Given the description of an element on the screen output the (x, y) to click on. 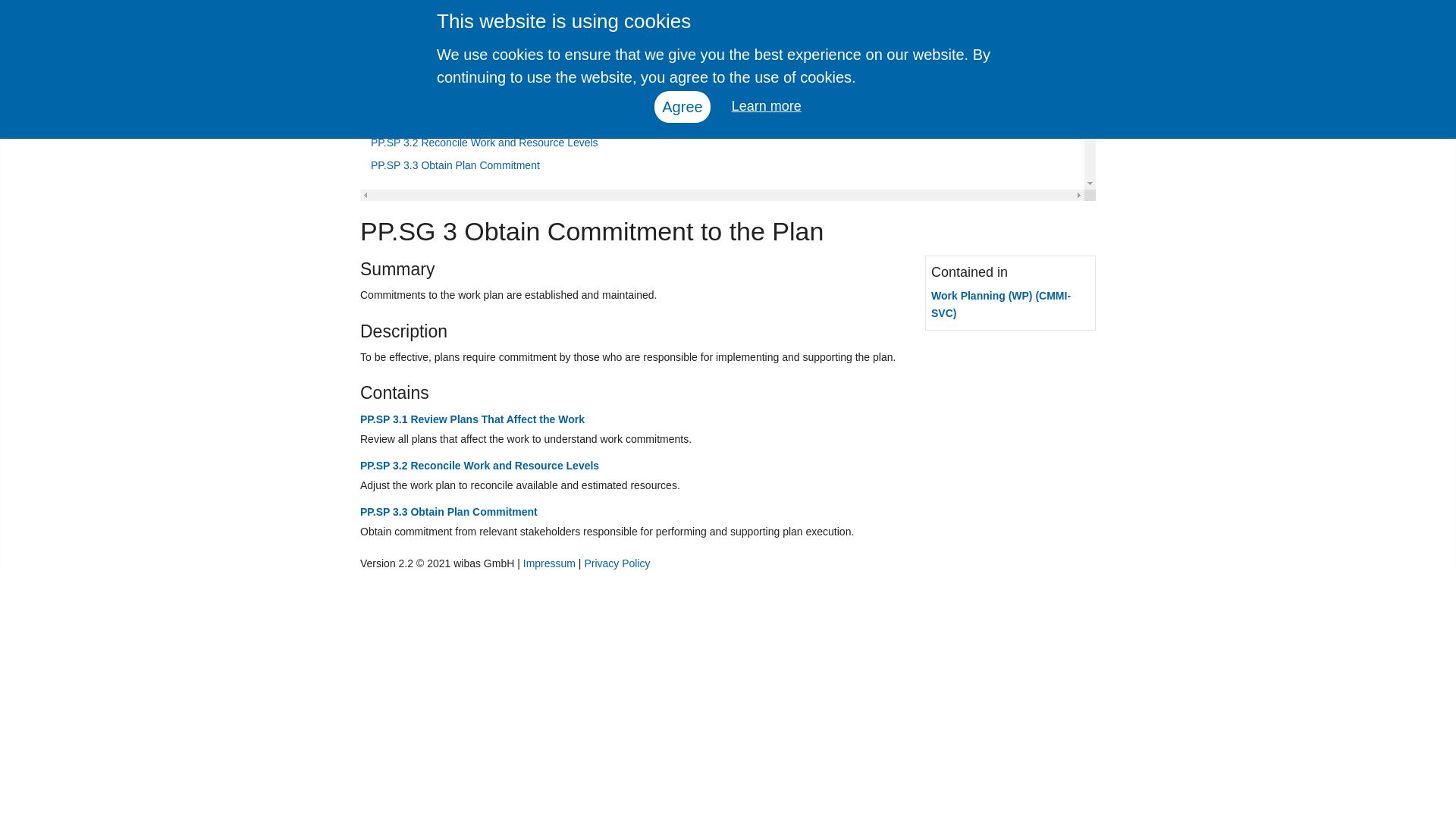
PP.SP 3.3 Obtain Plan Commitment (448, 511)
Impressum (548, 562)
Agree (681, 106)
PP.SP 3.1 Review Plans That Affect the Work (472, 419)
PP.SG 3 OBTAIN COMMITMENT TO THE PLAN (649, 89)
PP.SP 3.2 Reconcile Work and Resource Levels (478, 465)
PP.SP 3.3 Obtain Plan Commitment (721, 165)
PP.SP 3.1 Review Plans That Affect the Work (721, 120)
Privacy Policy (616, 562)
PP.SP 3.2 Reconcile Work and Resource Levels (721, 142)
